Given the description of an element on the screen output the (x, y) to click on. 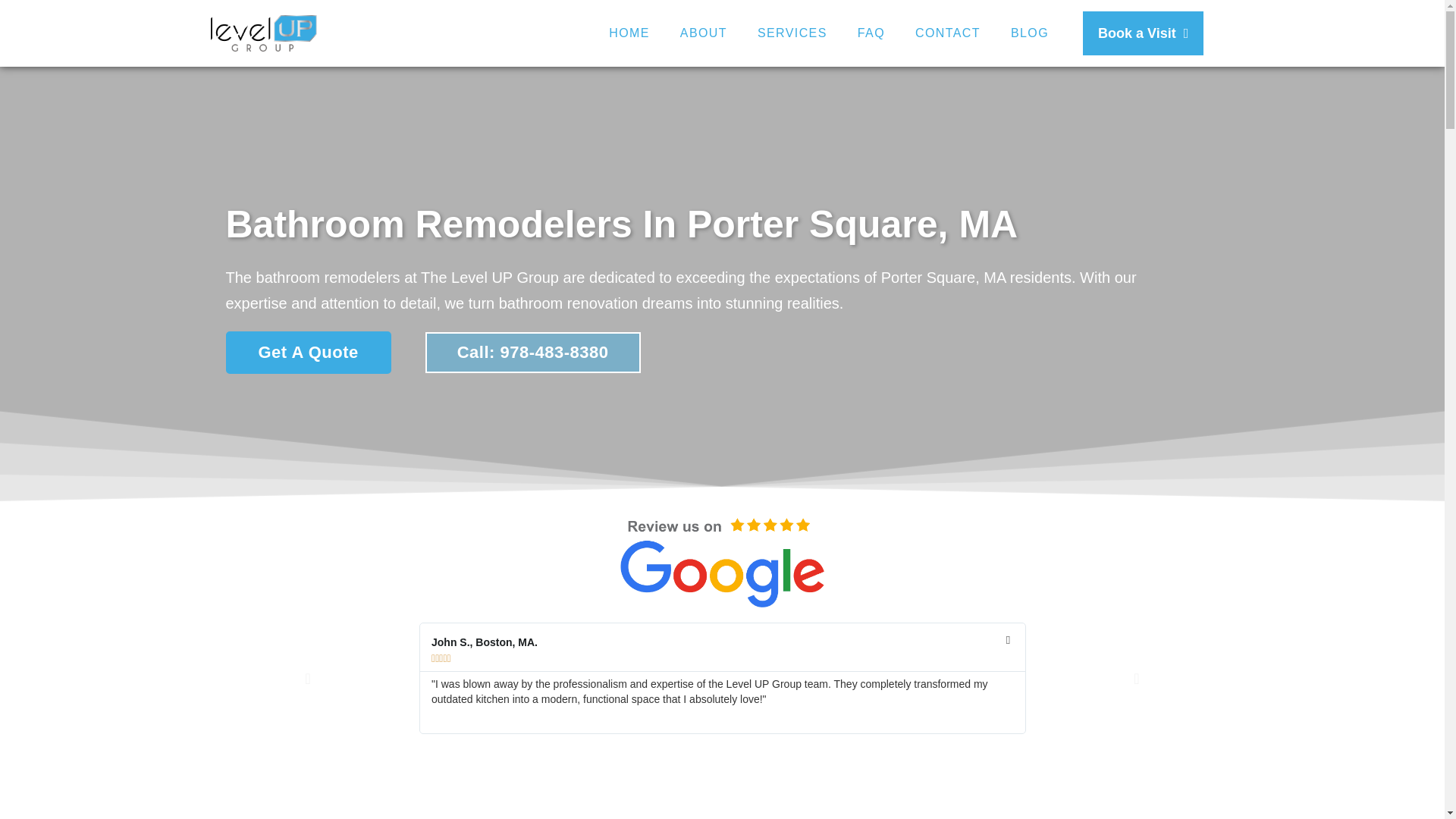
BLOG (1029, 32)
FAQ (871, 32)
SERVICES (792, 32)
CONTACT (947, 32)
Book a Visit (1143, 33)
Call: 978-483-8380 (532, 352)
Get A Quote (308, 351)
HOME (629, 32)
ABOUT (703, 32)
